Given the description of an element on the screen output the (x, y) to click on. 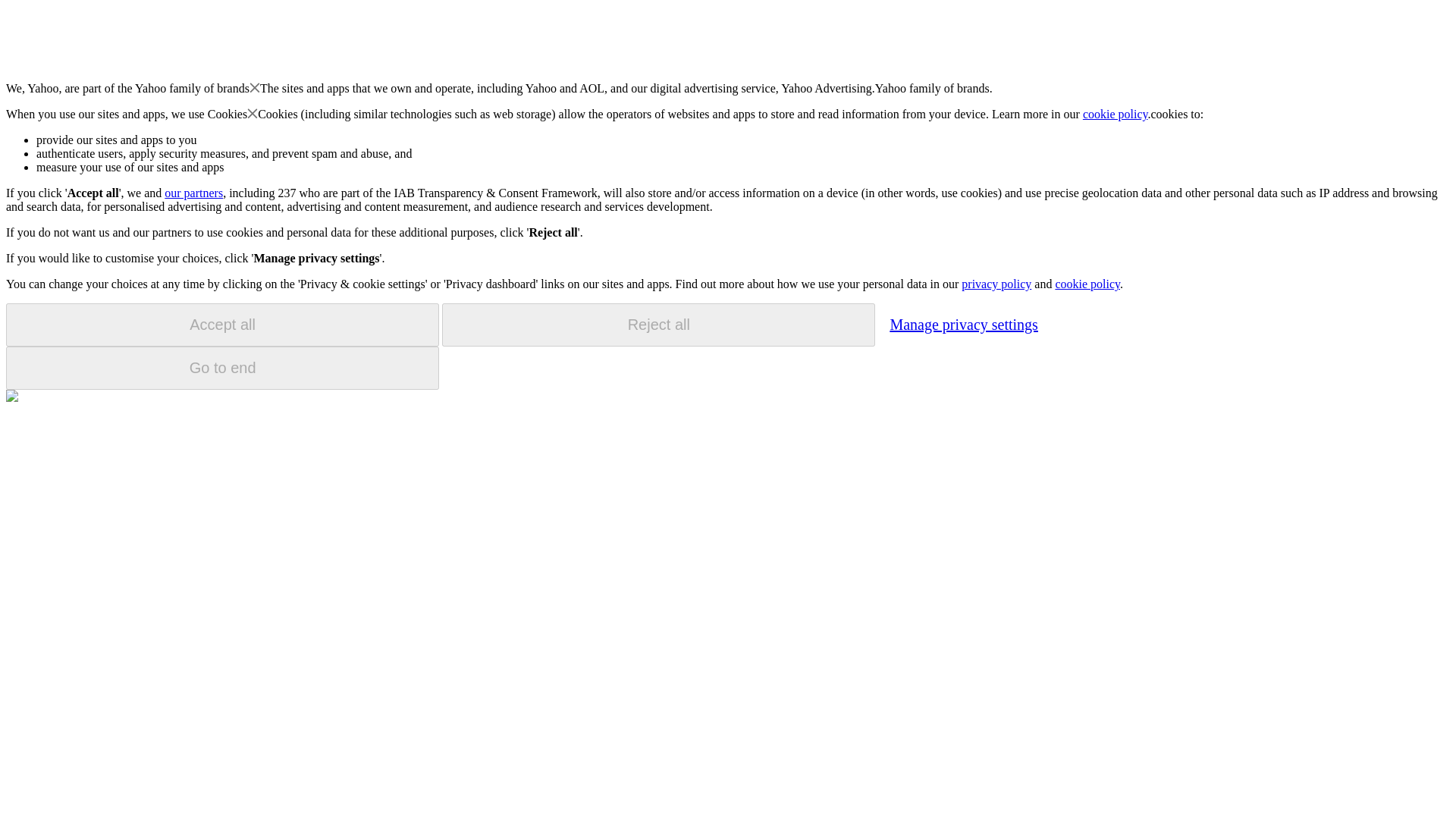
our partners (193, 192)
cookie policy (1086, 283)
Manage privacy settings (963, 323)
Accept all (222, 324)
privacy policy (995, 283)
cookie policy (1115, 113)
Go to end (222, 367)
Reject all (658, 324)
